Given the description of an element on the screen output the (x, y) to click on. 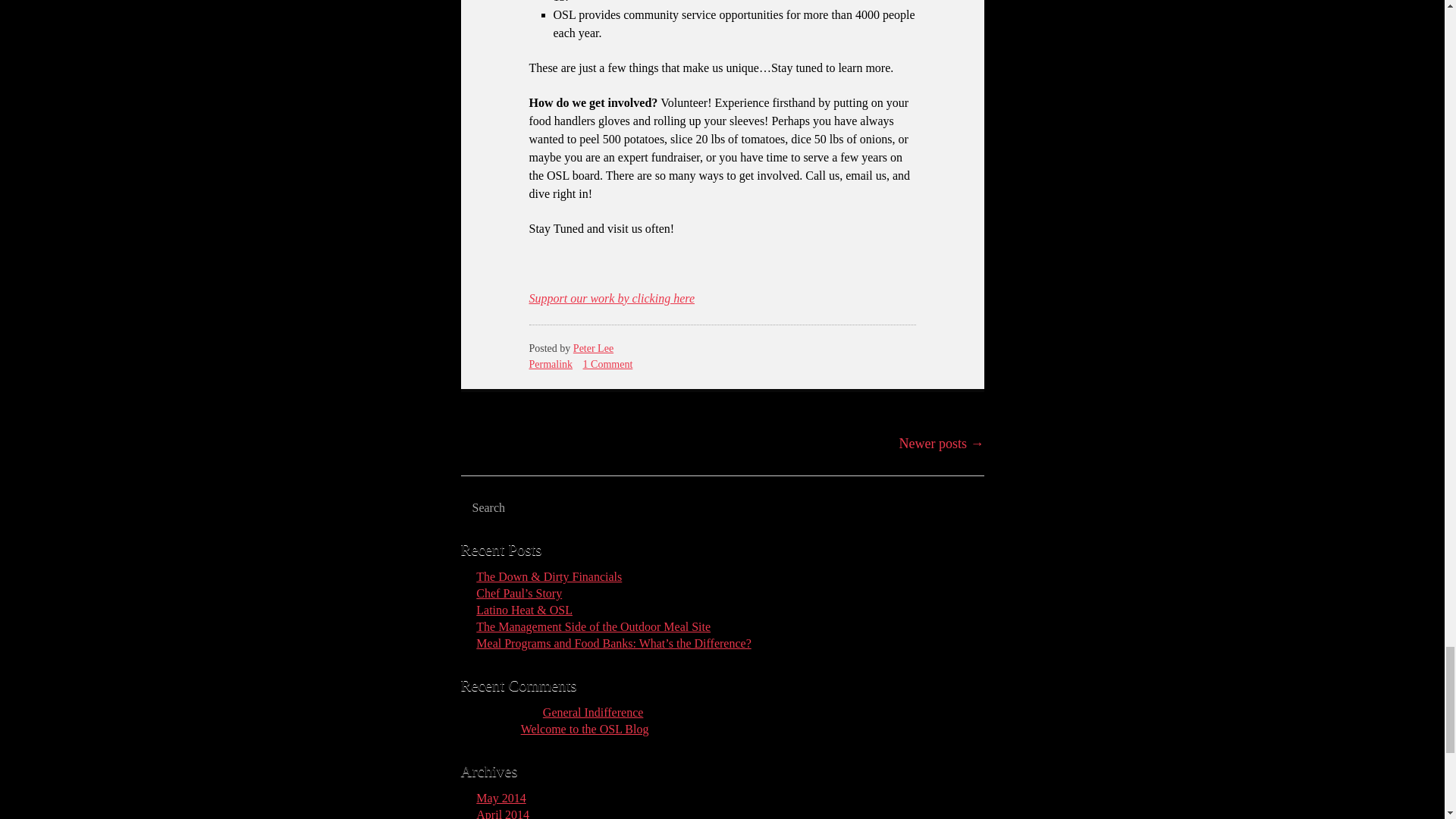
Support our work by clicking here (611, 297)
Permalink (551, 364)
April 2014 (502, 813)
Welcome to the OSL Blog (585, 728)
May 2014 (500, 797)
General Indifference (593, 712)
Peter Lee (592, 348)
Search (530, 508)
The Management Side of the Outdoor Meal Site (593, 626)
1 Comment (608, 364)
